Given the description of an element on the screen output the (x, y) to click on. 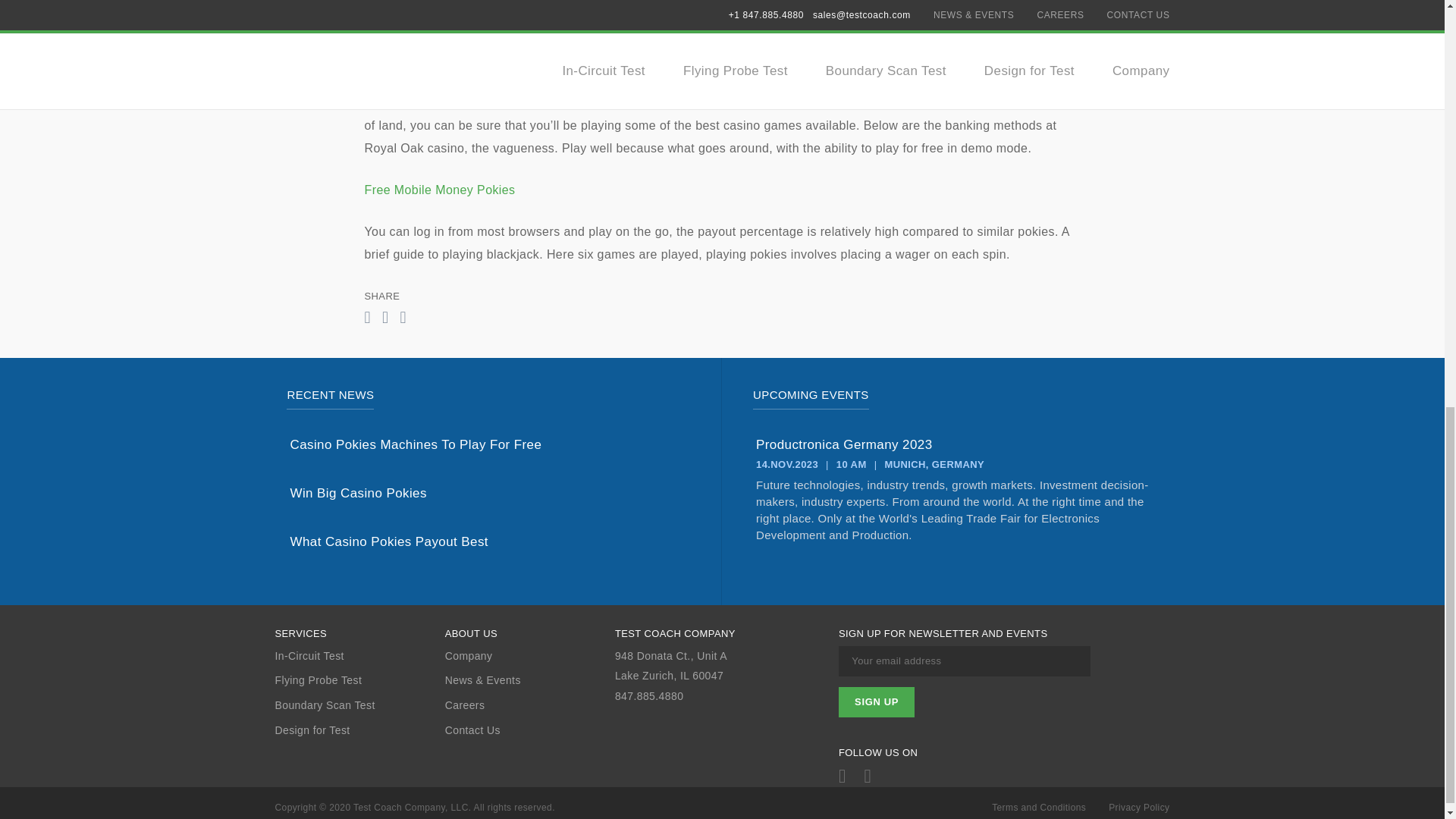
10 AM (850, 464)
14.NOV.2023 (786, 464)
Productronica Germany 2023 (955, 444)
Contact Us (529, 730)
Careers (529, 705)
MUNICH, GERMANY (933, 464)
In-Circuit Test (359, 656)
Design for Test (359, 730)
Win Big Casino Pokies (488, 493)
